Given the description of an element on the screen output the (x, y) to click on. 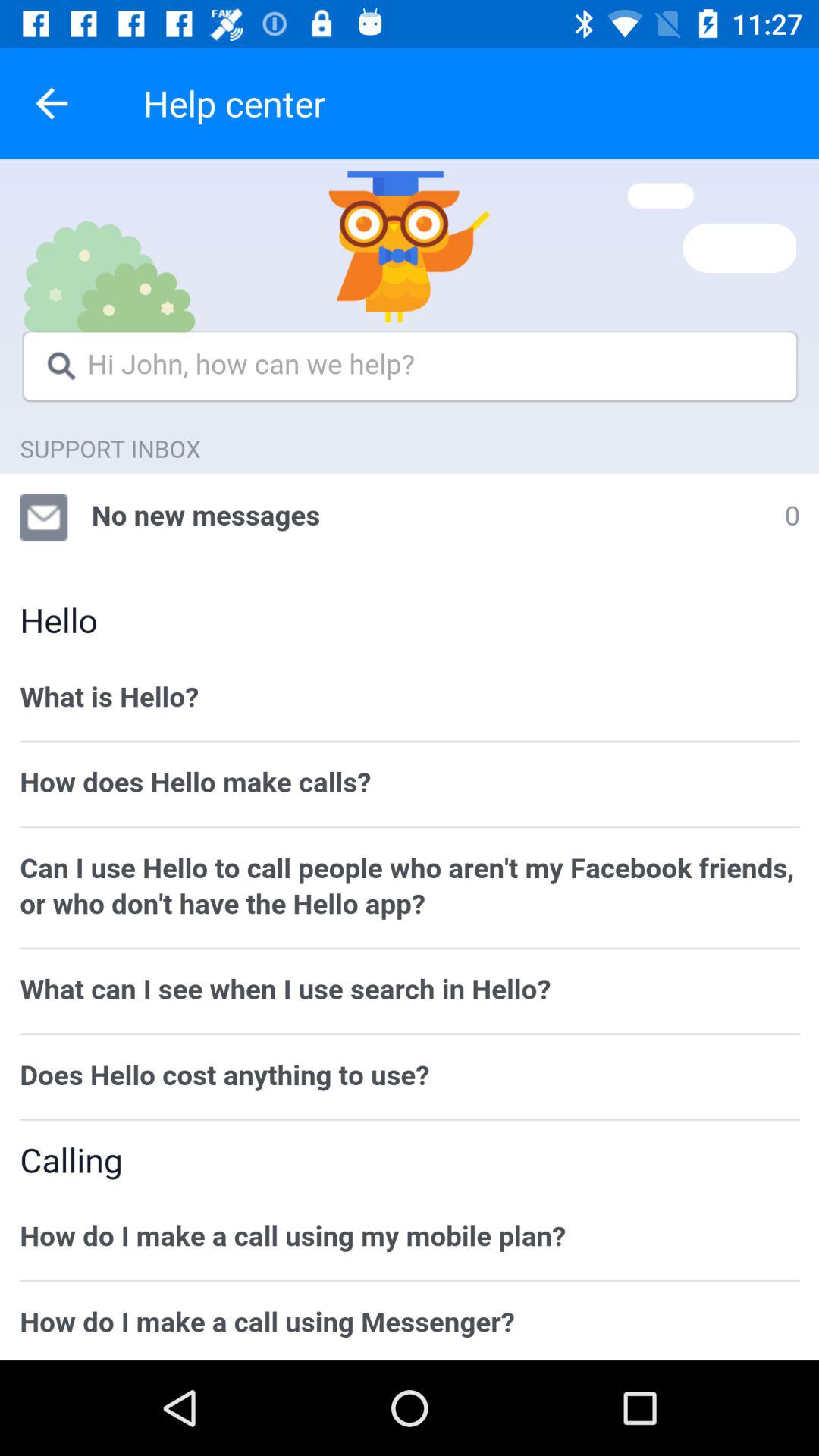
go back (51, 103)
